Given the description of an element on the screen output the (x, y) to click on. 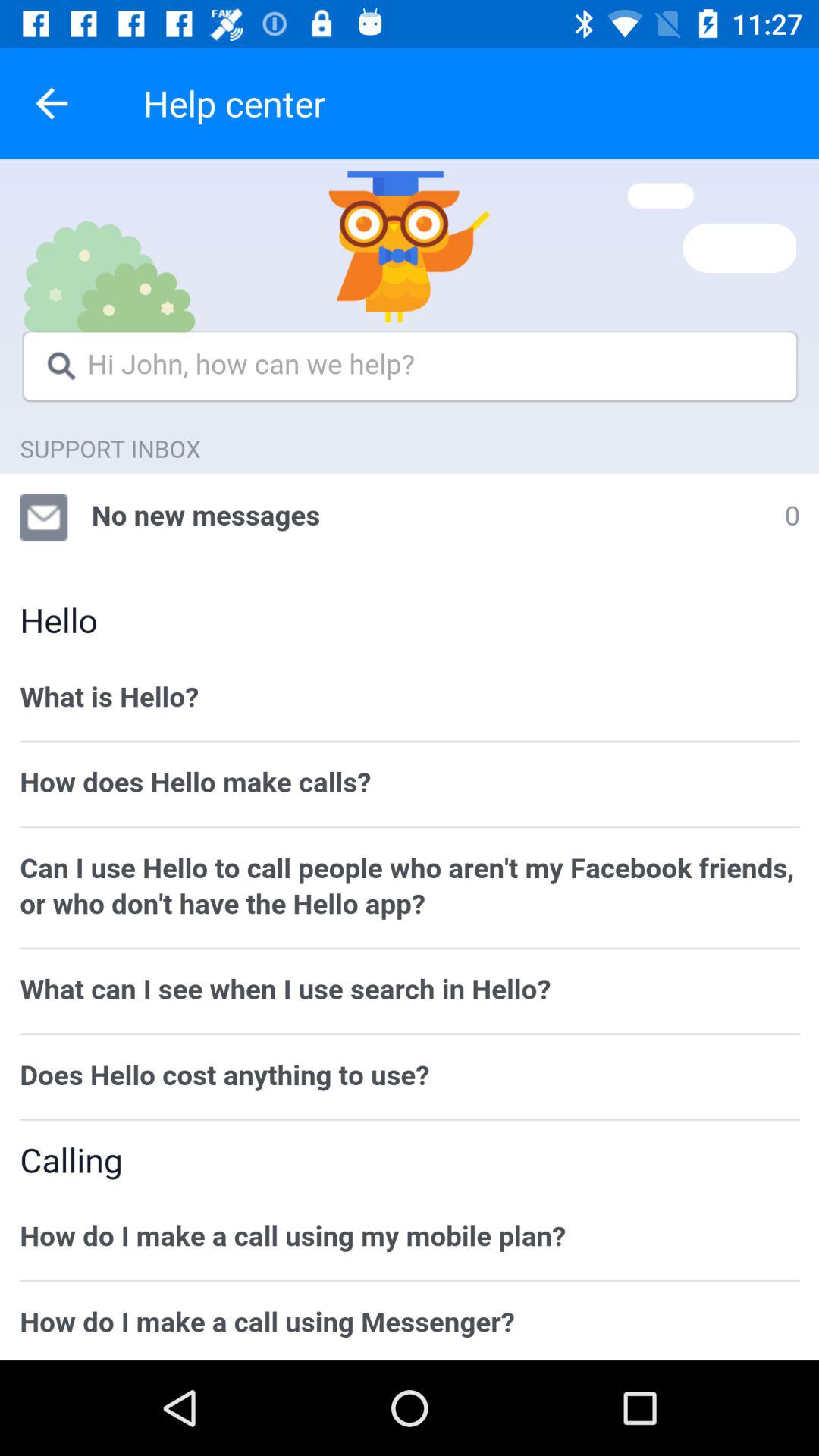
go back (51, 103)
